Given the description of an element on the screen output the (x, y) to click on. 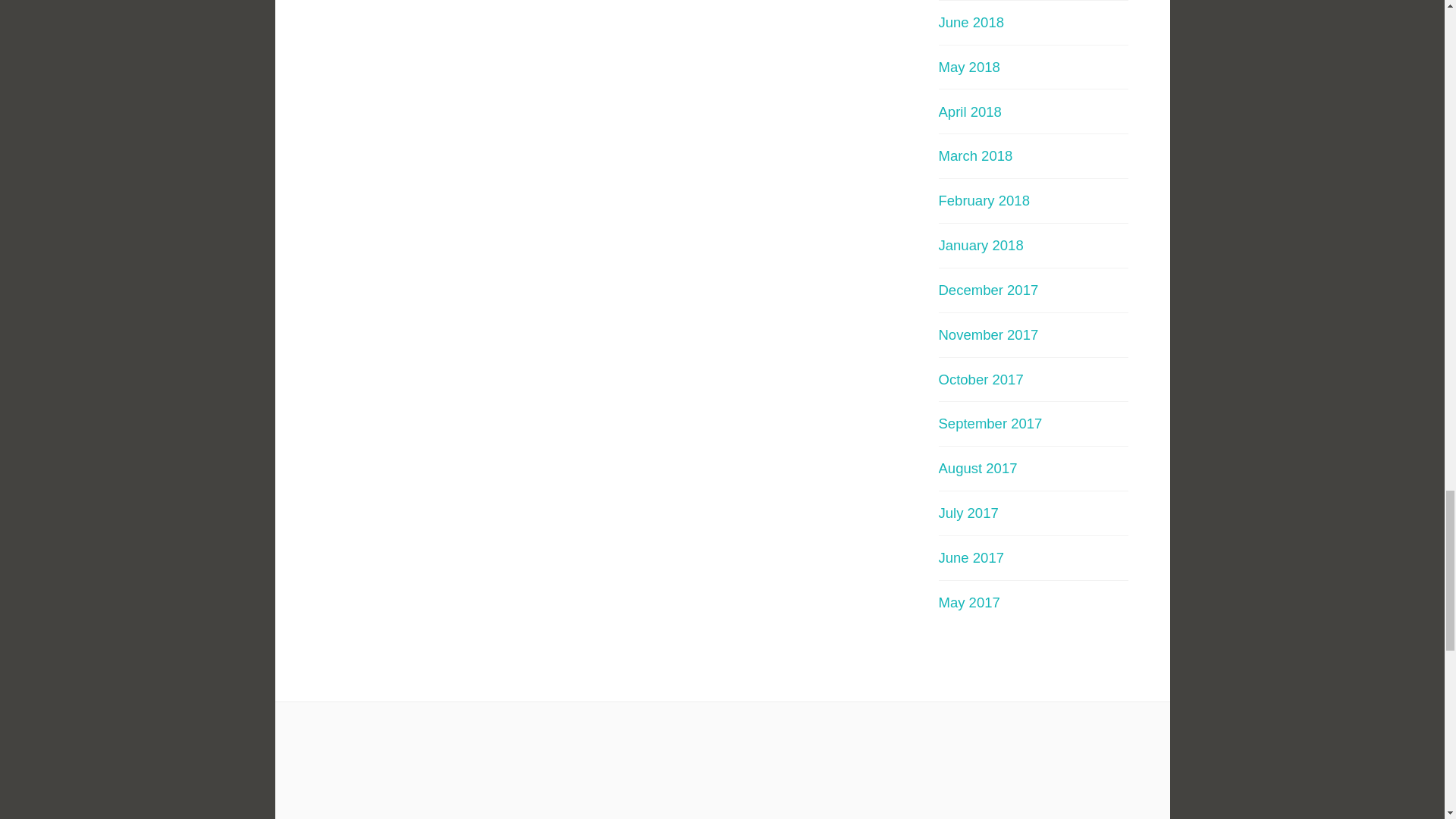
March 2018 (976, 155)
June 2018 (971, 22)
May 2018 (969, 66)
April 2018 (970, 111)
January 2018 (981, 245)
February 2018 (984, 200)
December 2017 (989, 289)
